Given the description of an element on the screen output the (x, y) to click on. 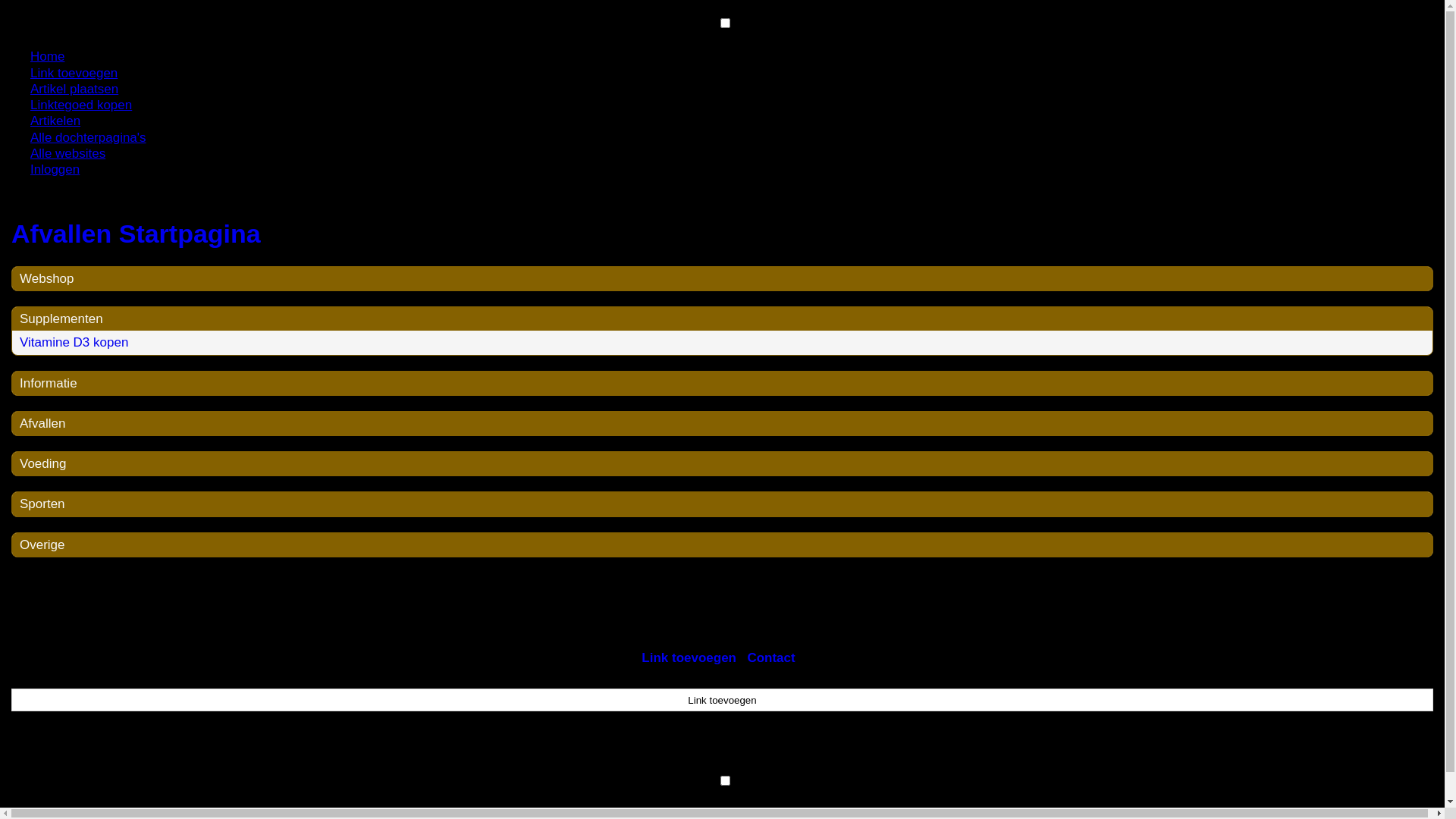
Link toevoegen Element type: text (73, 72)
Supplementen Element type: text (61, 318)
Webshop Element type: text (46, 278)
Informatie Element type: text (48, 383)
Inloggen Element type: text (54, 169)
Link toevoegen Element type: text (722, 699)
Linktegoed kopen Element type: text (80, 104)
Artikel plaatsen Element type: text (74, 88)
Alle websites Element type: text (67, 153)
Contact Element type: text (770, 657)
Link toevoegen Element type: text (688, 657)
Afvallen Element type: text (42, 423)
Home Element type: text (47, 56)
Artikelen Element type: text (55, 120)
Alle dochterpagina's Element type: text (88, 137)
Afvallen Startpagina Element type: text (722, 233)
Vitamine D3 kopen Element type: text (73, 342)
Voeding Element type: text (42, 463)
Sporten Element type: text (42, 503)
Overige Element type: text (42, 544)
